Given the description of an element on the screen output the (x, y) to click on. 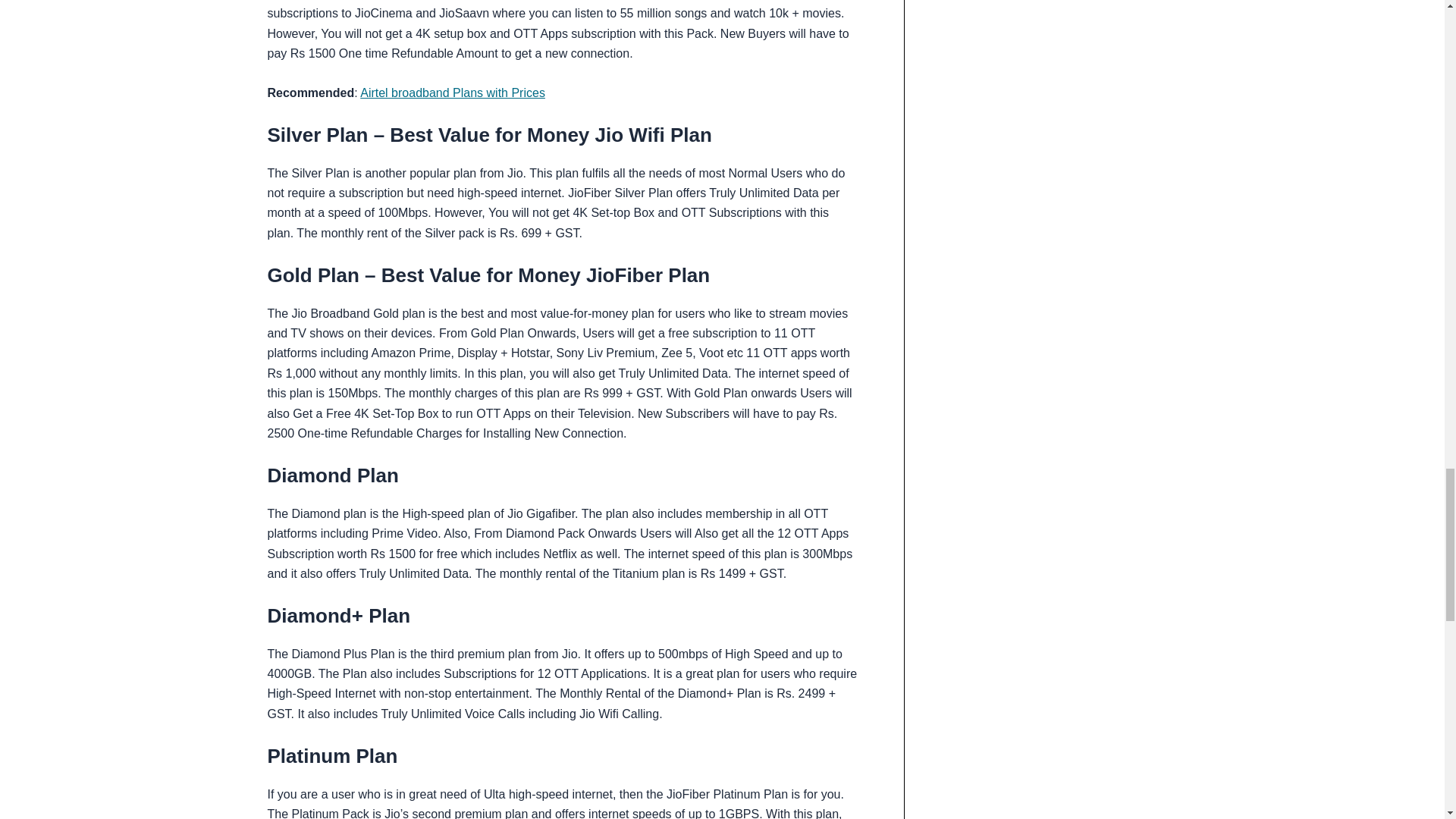
Airtel broadband Plans with Prices (451, 92)
